Given the description of an element on the screen output the (x, y) to click on. 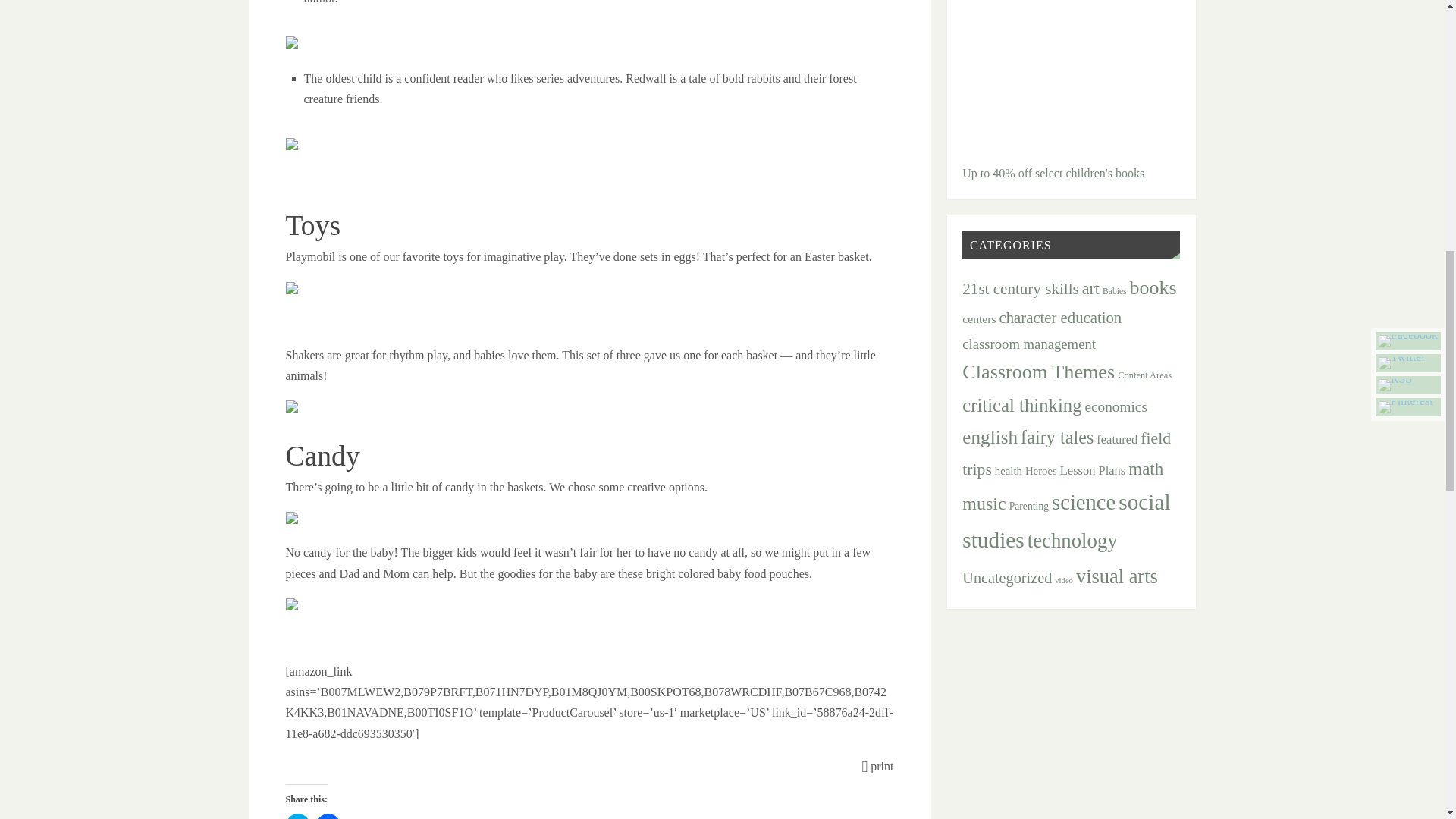
Click to share on Facebook (327, 816)
Click to share on Twitter (296, 816)
